Given the description of an element on the screen output the (x, y) to click on. 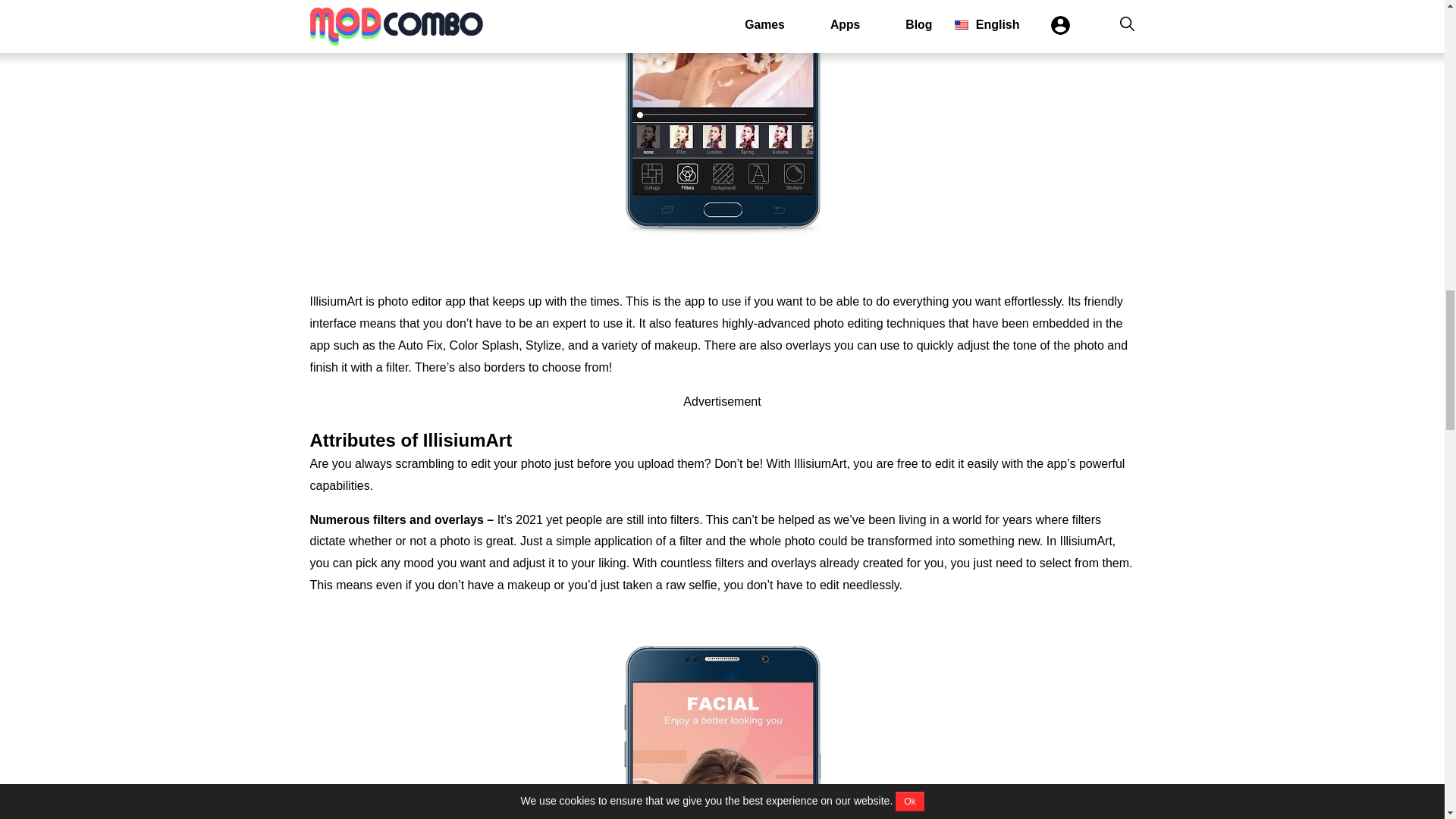
illisiumart apk latest version (722, 135)
illisiumart apk free download (722, 714)
